Given the description of an element on the screen output the (x, y) to click on. 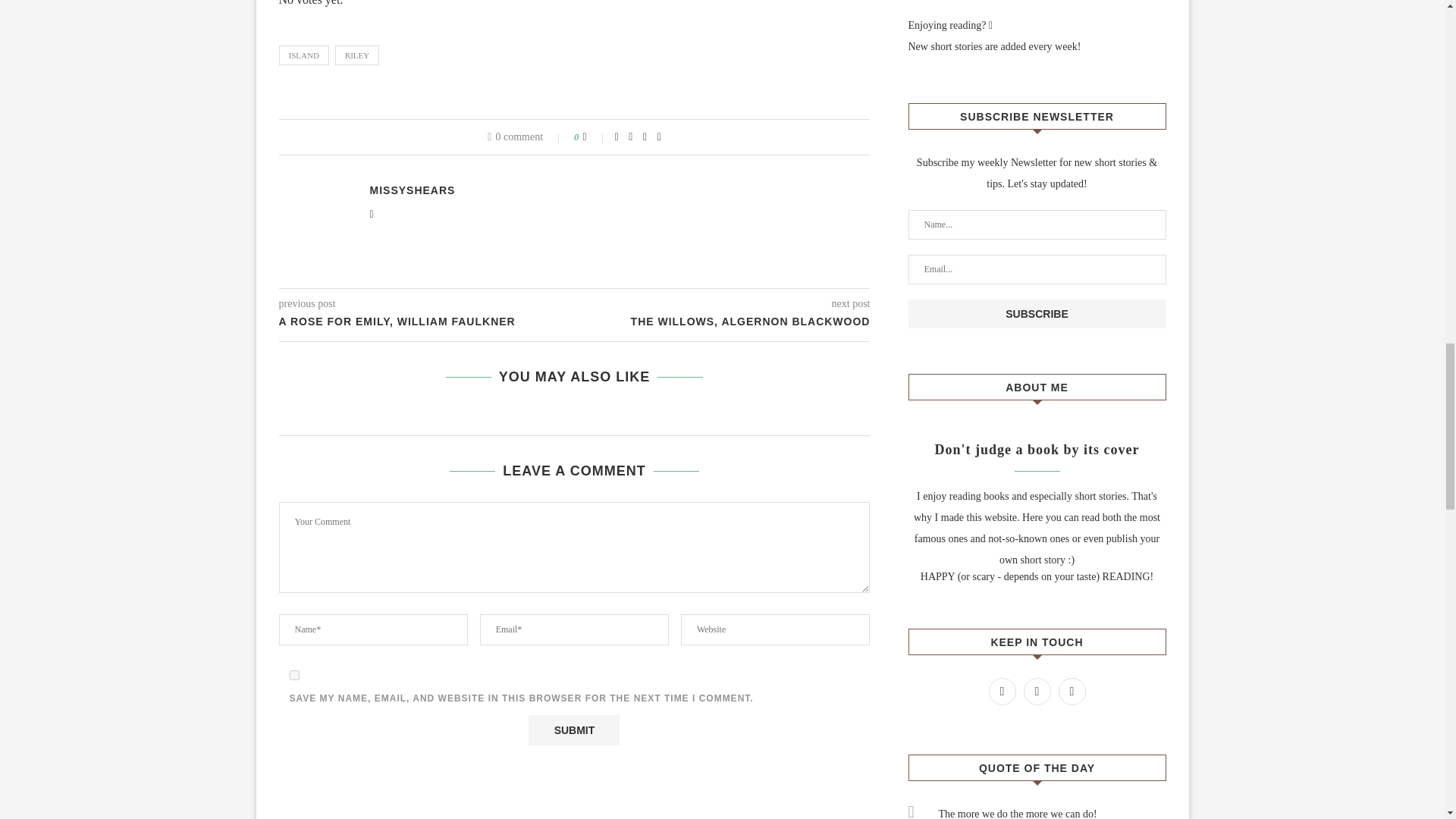
Like (595, 137)
Subscribe (1037, 313)
Posts by Missyshears (412, 190)
yes (294, 675)
Submit (574, 729)
